Given the description of an element on the screen output the (x, y) to click on. 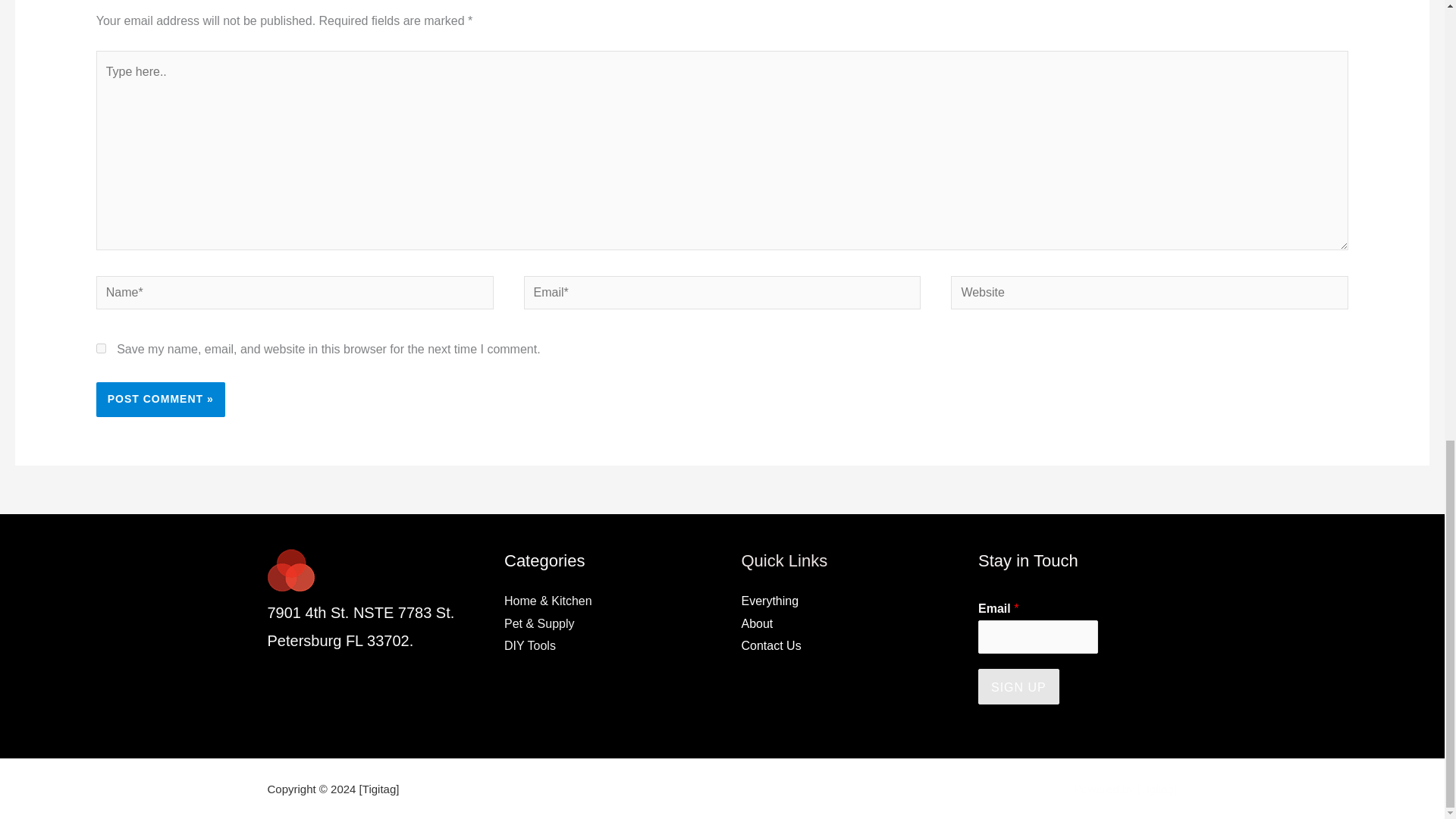
DIY Tools (529, 645)
yes (101, 347)
